Given the description of an element on the screen output the (x, y) to click on. 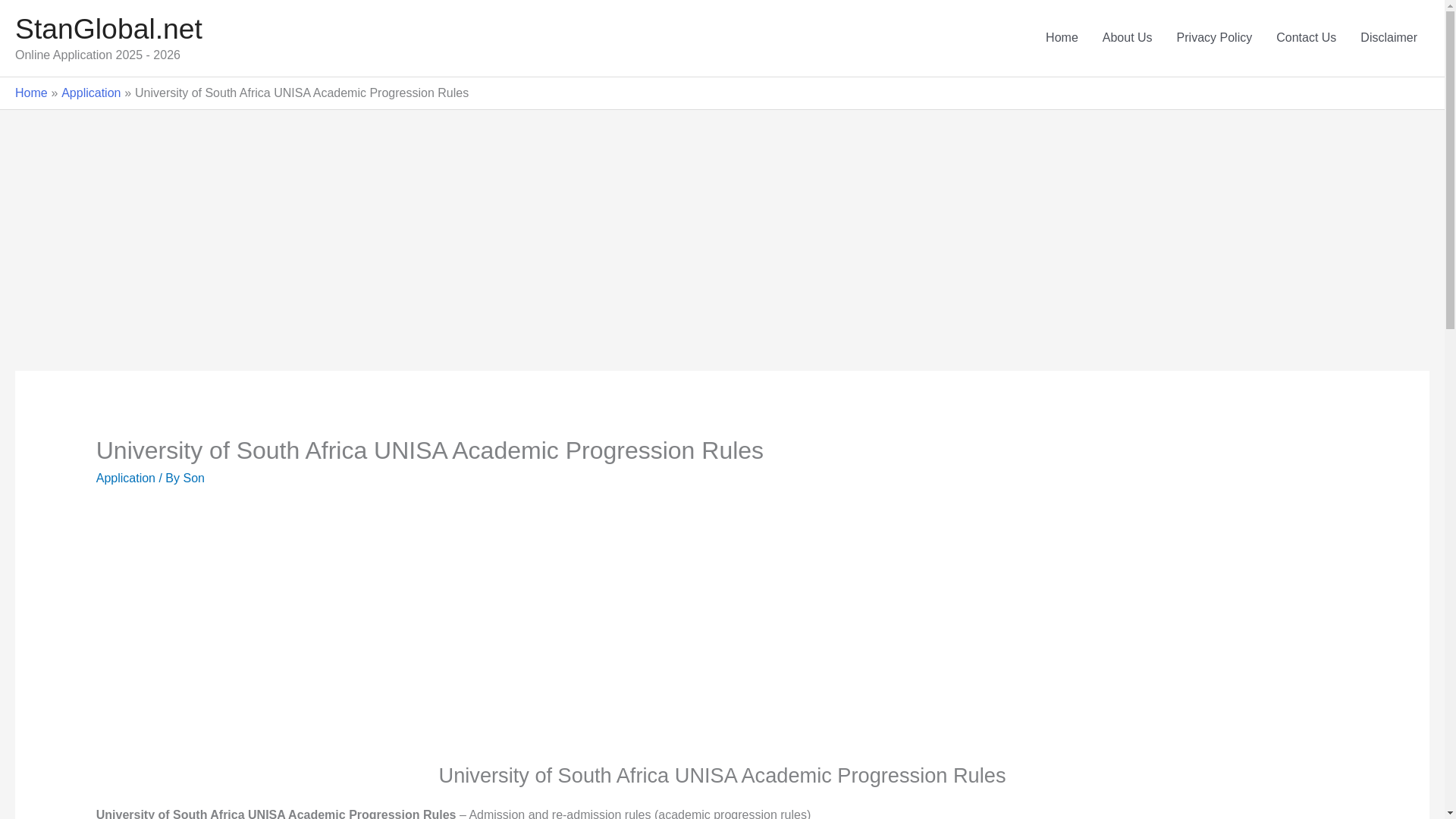
View all posts by Son (193, 477)
Privacy Policy (1214, 38)
Application (90, 92)
About Us (1127, 38)
Application (125, 477)
Son (193, 477)
Advertisement (338, 636)
Home (31, 92)
Contact Us (1305, 38)
StanGlobal.net (108, 29)
Disclaimer (1388, 38)
